Given the description of an element on the screen output the (x, y) to click on. 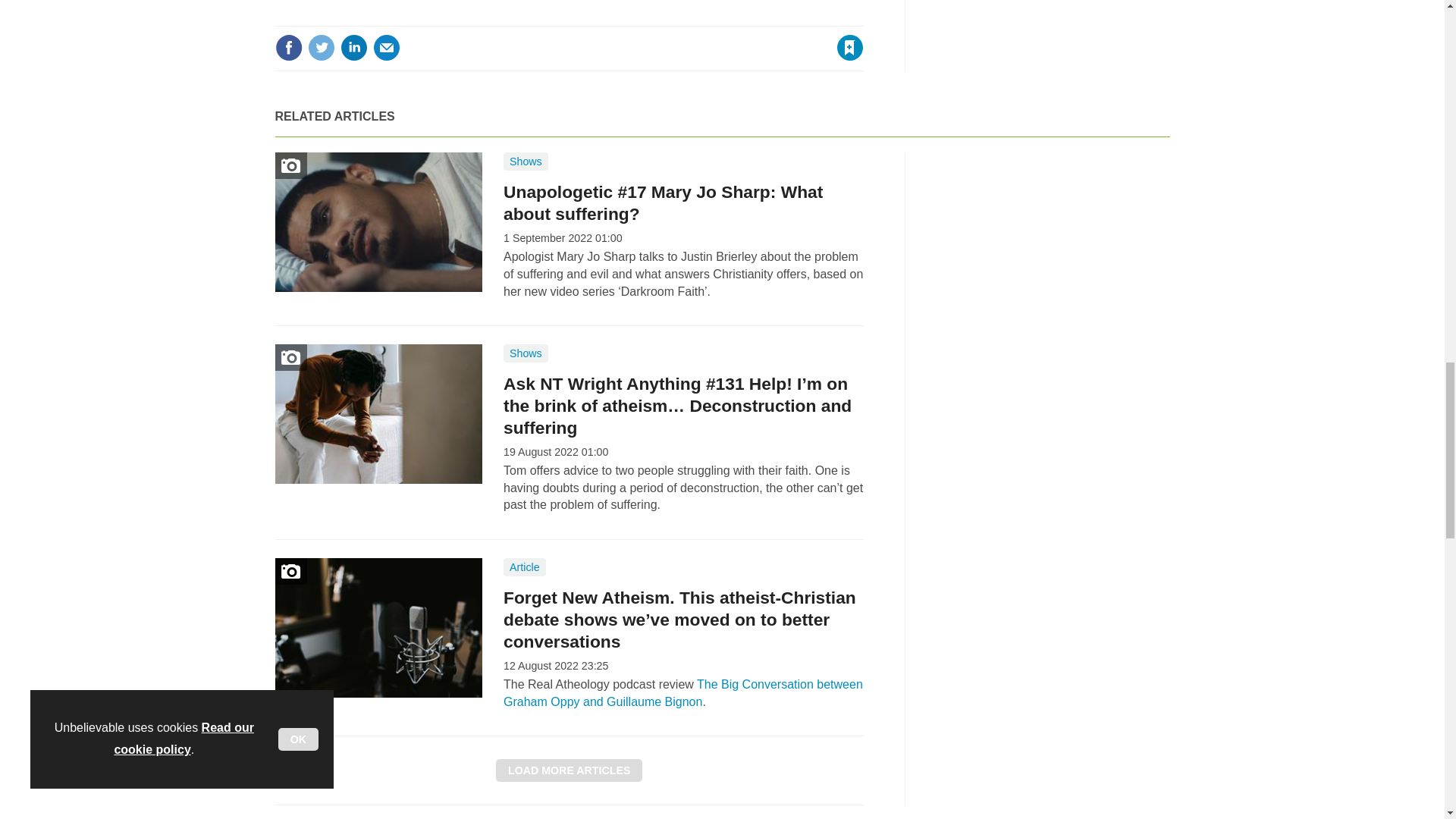
Share this on Facebook (288, 47)
Share this on Twitter (320, 47)
Share this on Linked in (352, 47)
3rd party ad content (1055, 247)
Email this article (386, 47)
